Given the description of an element on the screen output the (x, y) to click on. 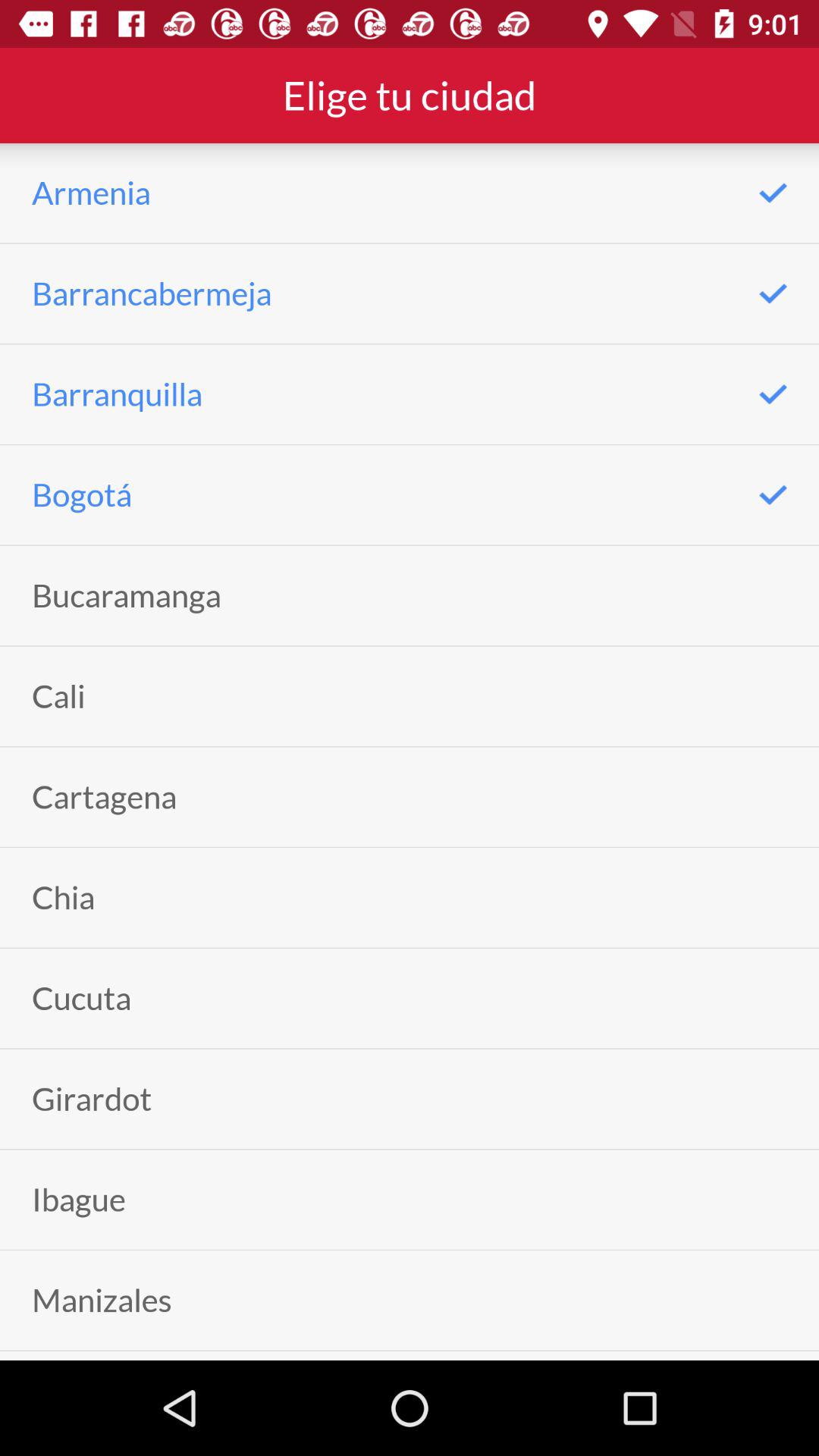
flip until cali icon (58, 696)
